Given the description of an element on the screen output the (x, y) to click on. 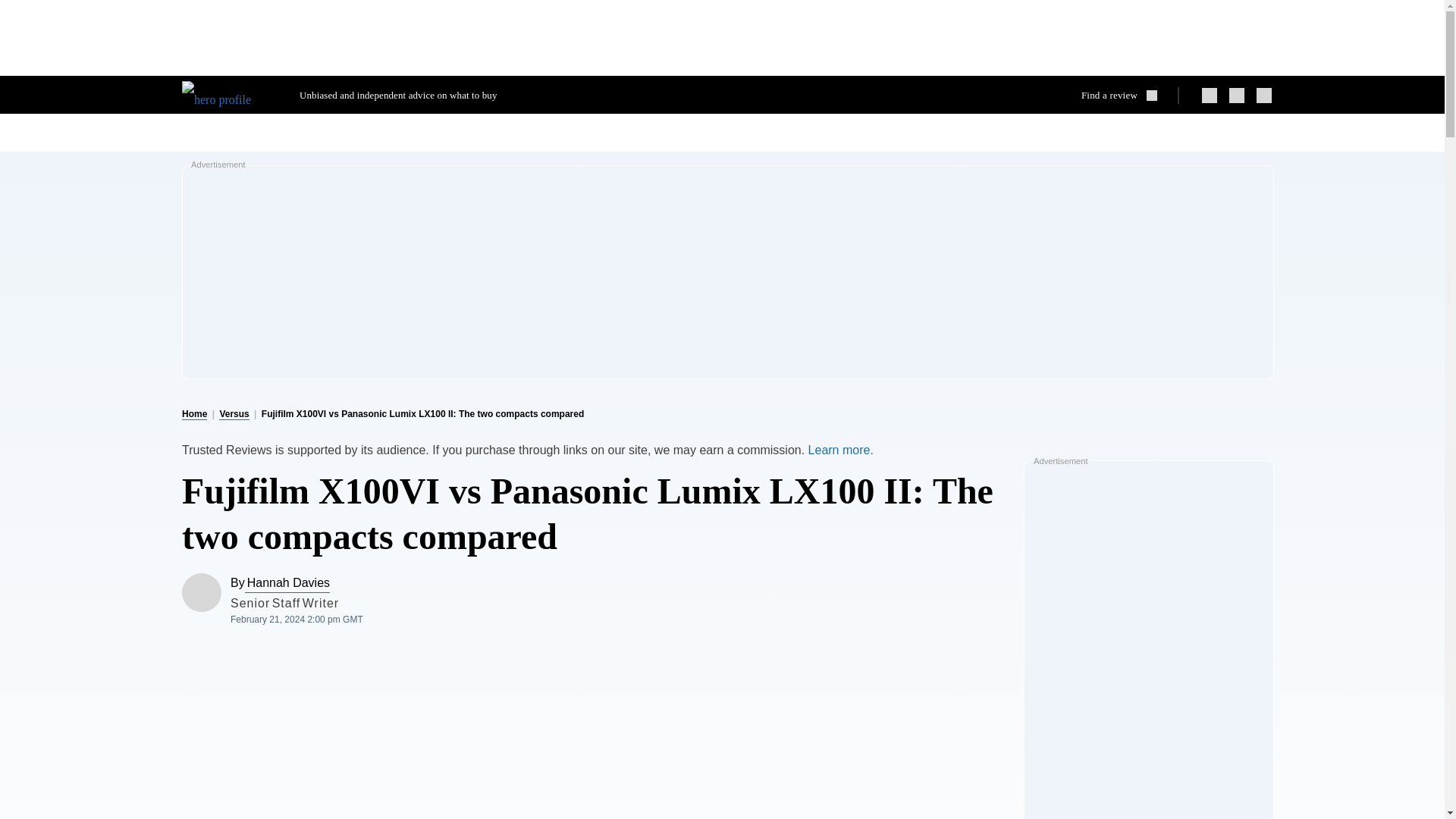
Search the site (1124, 94)
Find a review (1124, 94)
Trusted Reviews (229, 94)
